Given the description of an element on the screen output the (x, y) to click on. 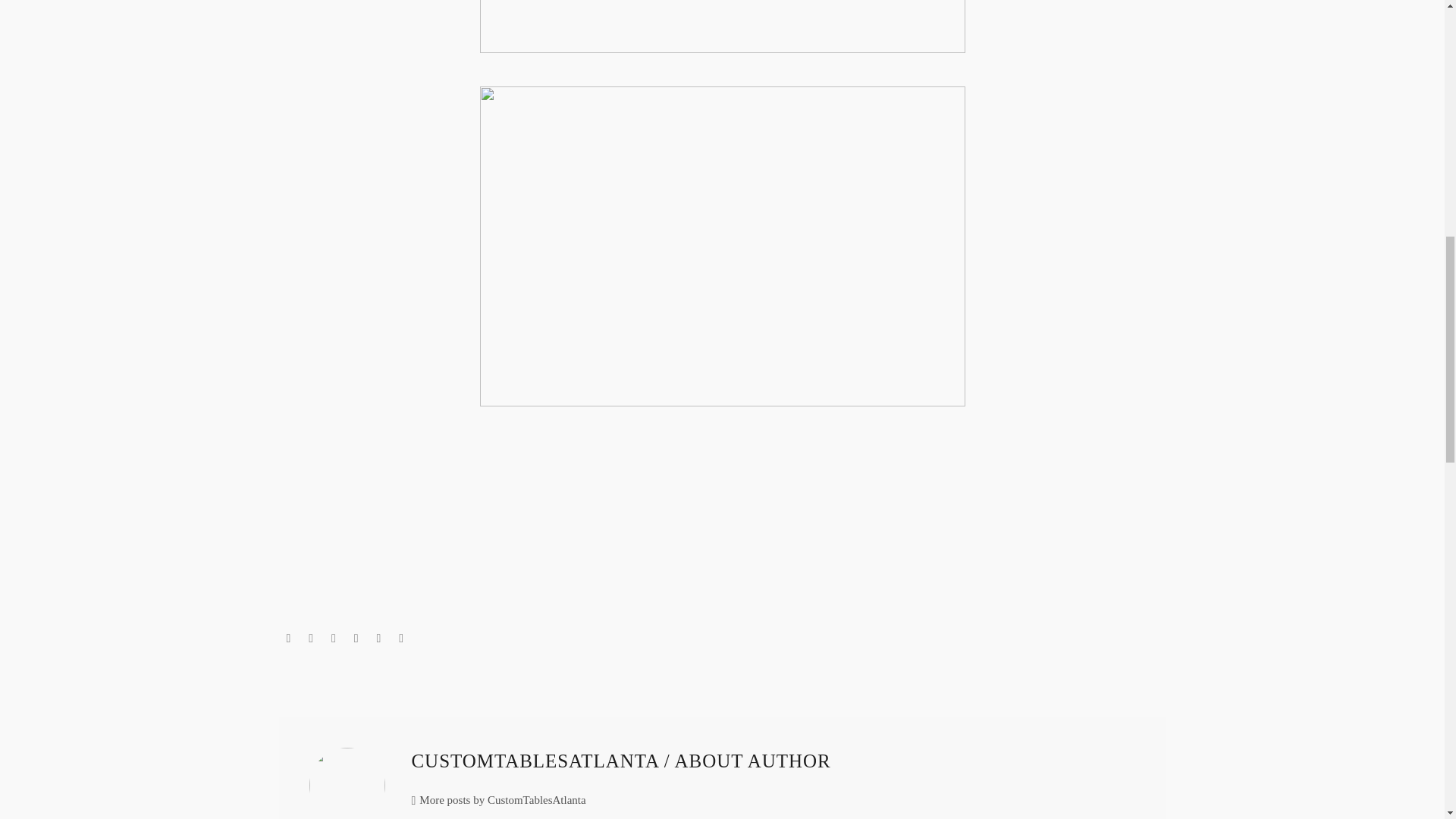
LinkedIn (378, 638)
Reddit (400, 638)
Pinterest (333, 638)
Twitter (310, 638)
Facebook (288, 638)
Tumblr (356, 638)
